Given the description of an element on the screen output the (x, y) to click on. 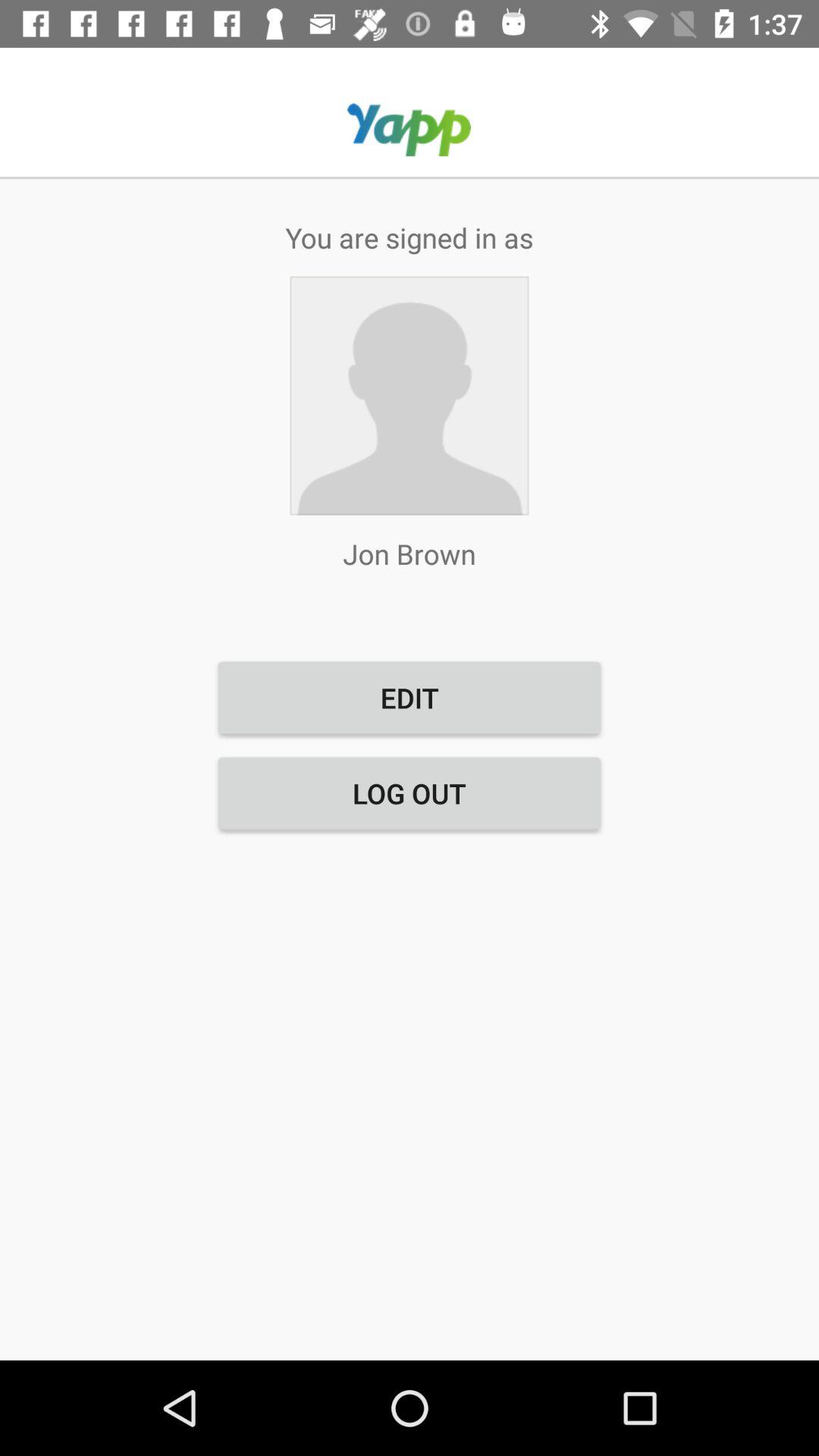
click the item above log out button (409, 697)
